Given the description of an element on the screen output the (x, y) to click on. 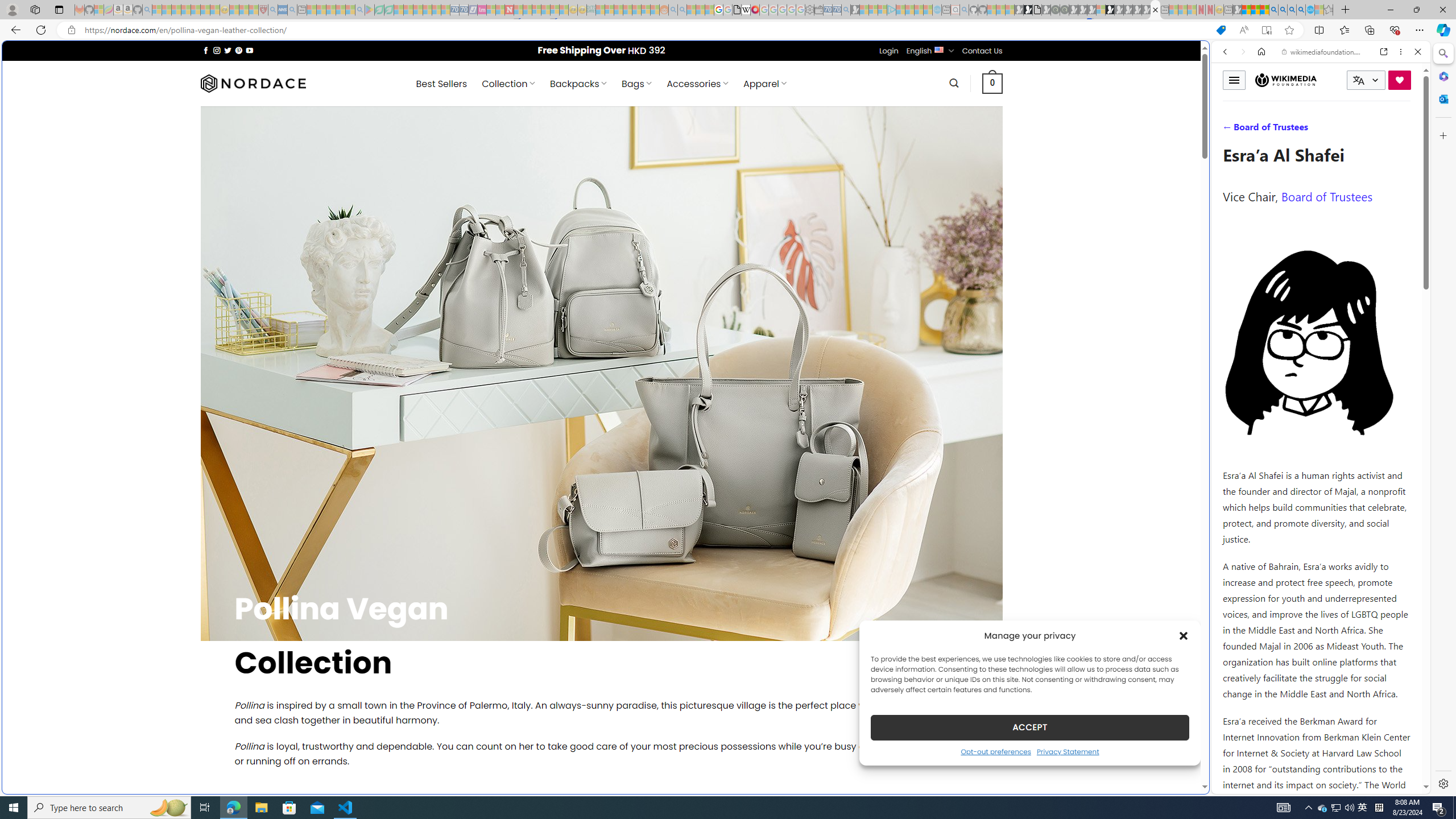
Tabs you've opened (885, 151)
Kinda Frugal - MSN - Sleeping (636, 9)
Nordace - Pollina Vegan Leather Collection (1154, 9)
Follow on YouTube (249, 49)
Bing AI - Search (1272, 9)
2009 Bing officially replaced Live Search on June 3 - Search (1283, 9)
MediaWiki (754, 9)
